Given the description of an element on the screen output the (x, y) to click on. 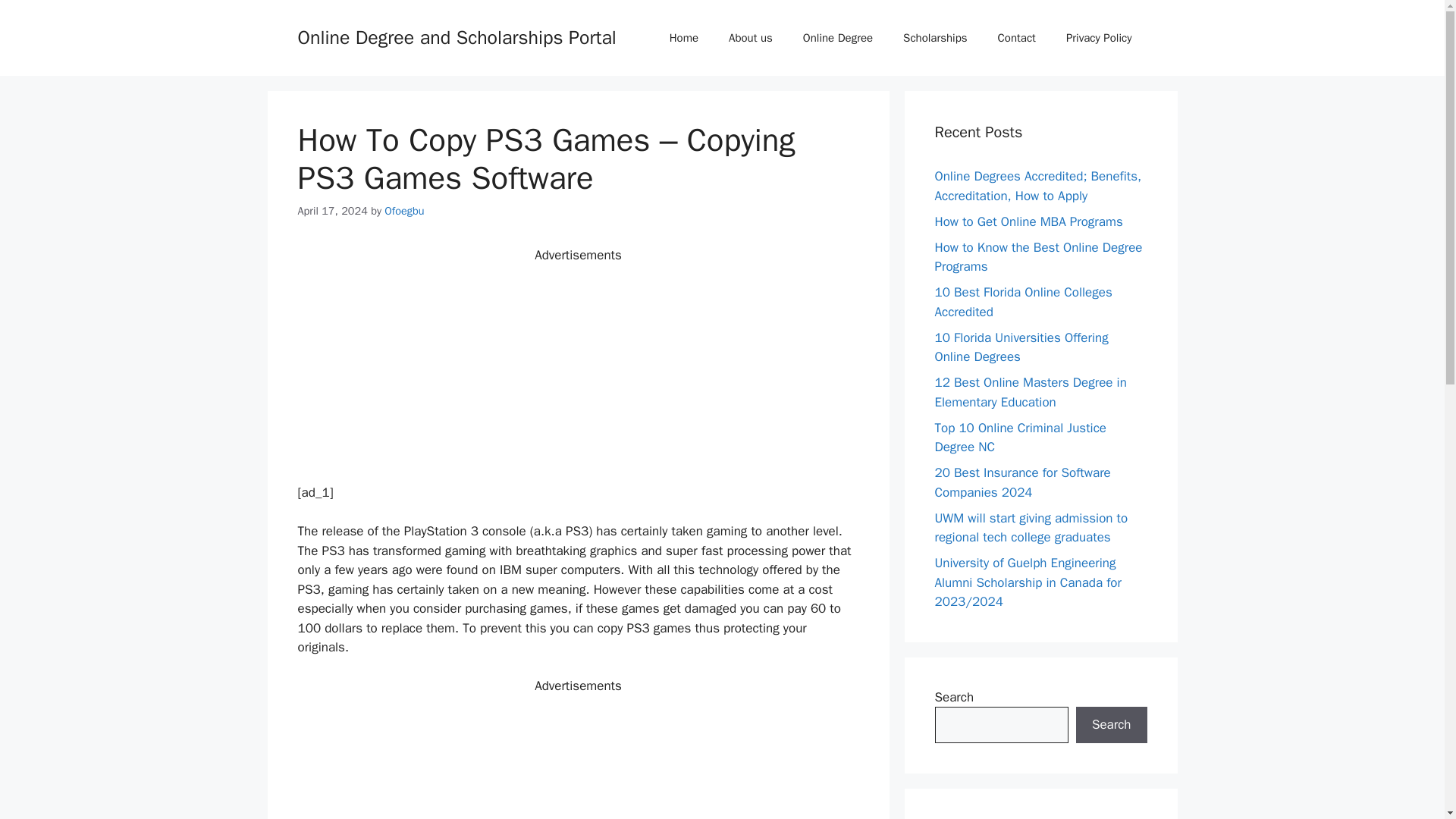
Top 10 Online Criminal Justice Degree NC (1019, 437)
20 Best Insurance for Software Companies 2024 (1021, 482)
Search (1111, 724)
Home (683, 37)
About us (750, 37)
Advertisement (578, 370)
Ofoegbu (403, 210)
Online Degree and Scholarships Portal (456, 37)
12 Best Online Masters Degree in Elementary Education (1029, 392)
Scholarships (934, 37)
